Given the description of an element on the screen output the (x, y) to click on. 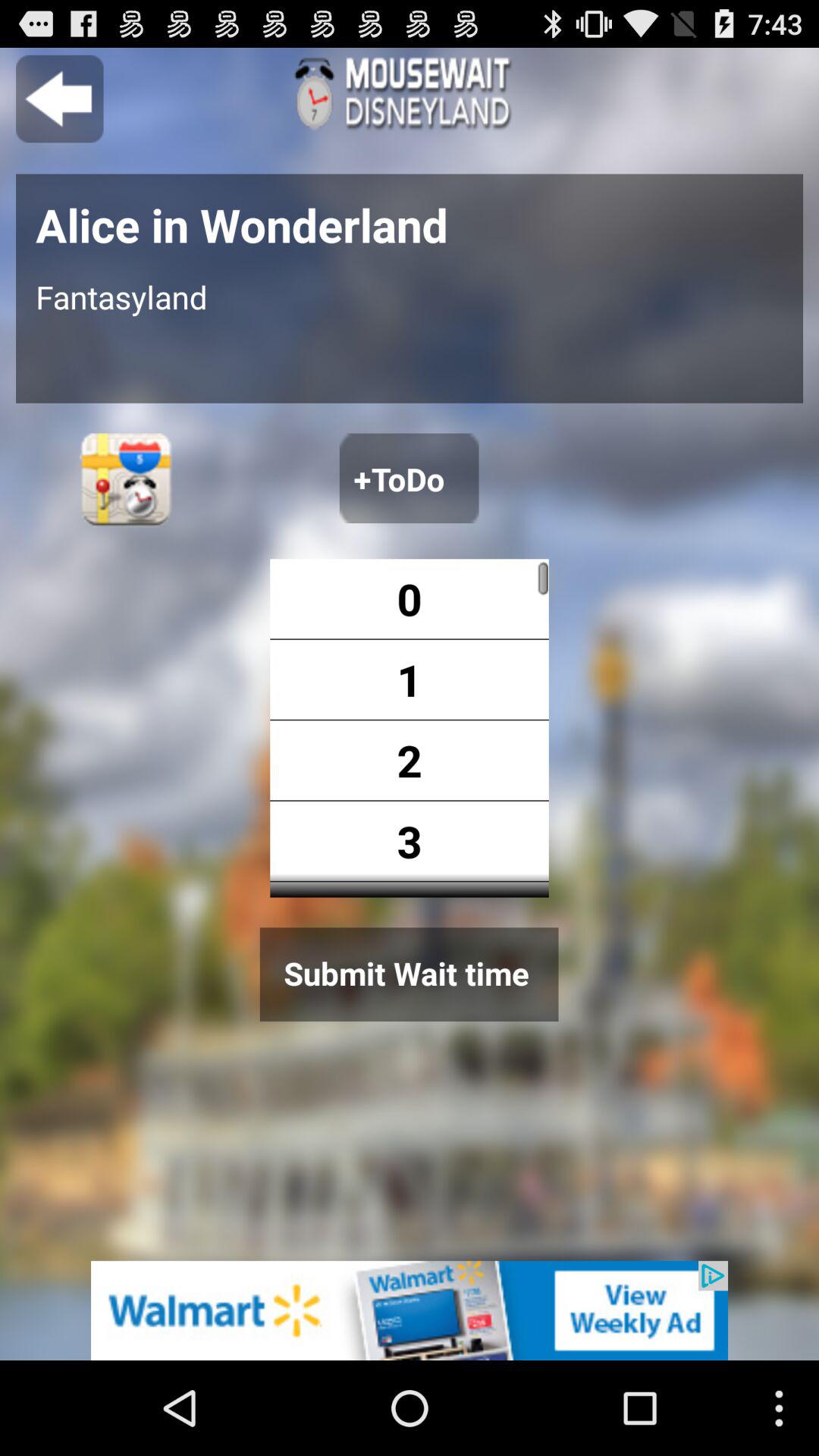
advertisement (409, 1310)
